Given the description of an element on the screen output the (x, y) to click on. 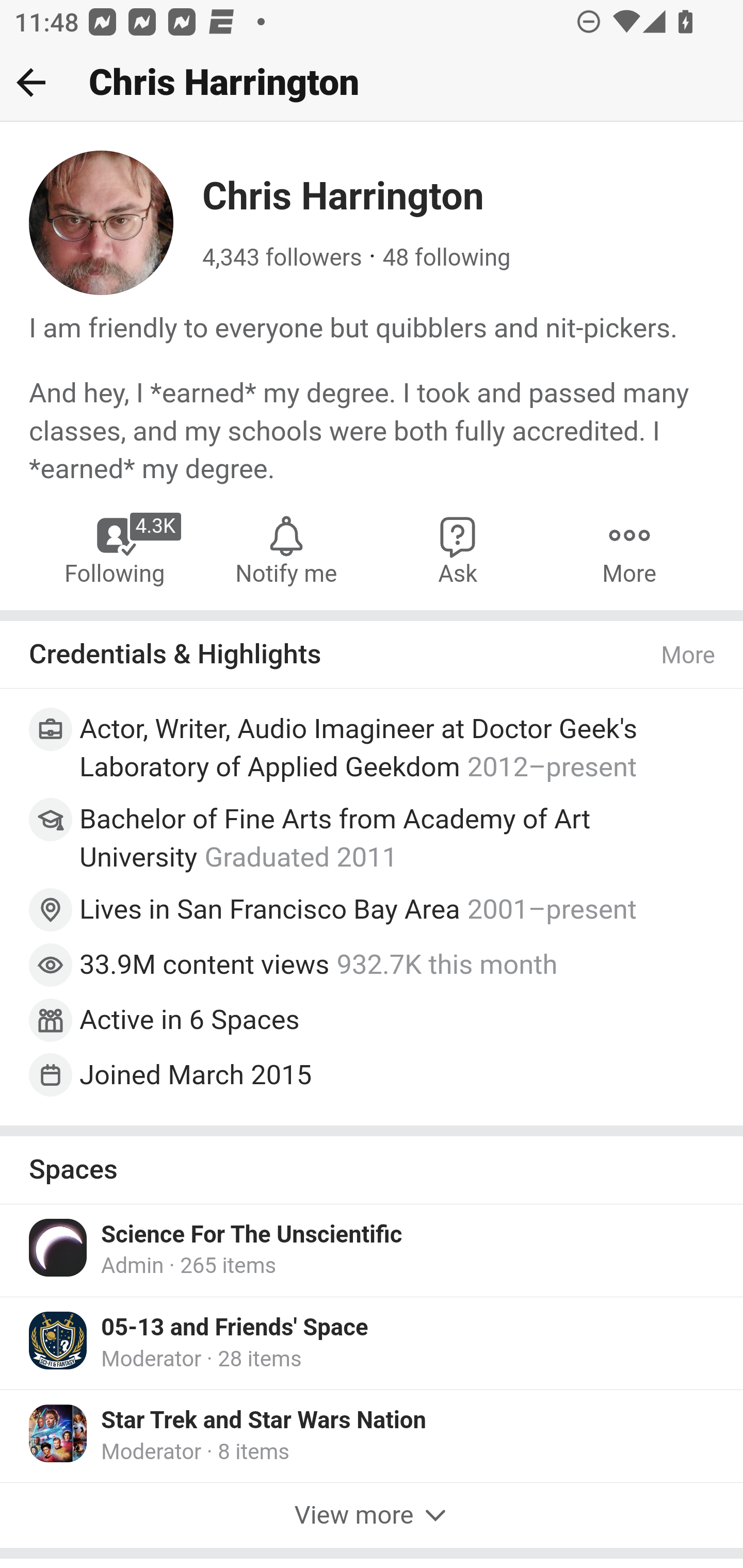
Back (30, 82)
Following Chris Harrington 4.3K Following (115, 548)
Notify me (285, 548)
Ask (458, 548)
More (628, 548)
More (688, 656)
Icon for Science For The Unscientific (58, 1246)
Science For The Unscientific (251, 1233)
Icon for 05-13 and Friends' Space (58, 1339)
05-13 and Friends' Space (235, 1327)
Icon for Star Trek and Star Wars Nation (58, 1432)
Star Trek and Star Wars Nation (264, 1420)
View more (371, 1516)
